Given the description of an element on the screen output the (x, y) to click on. 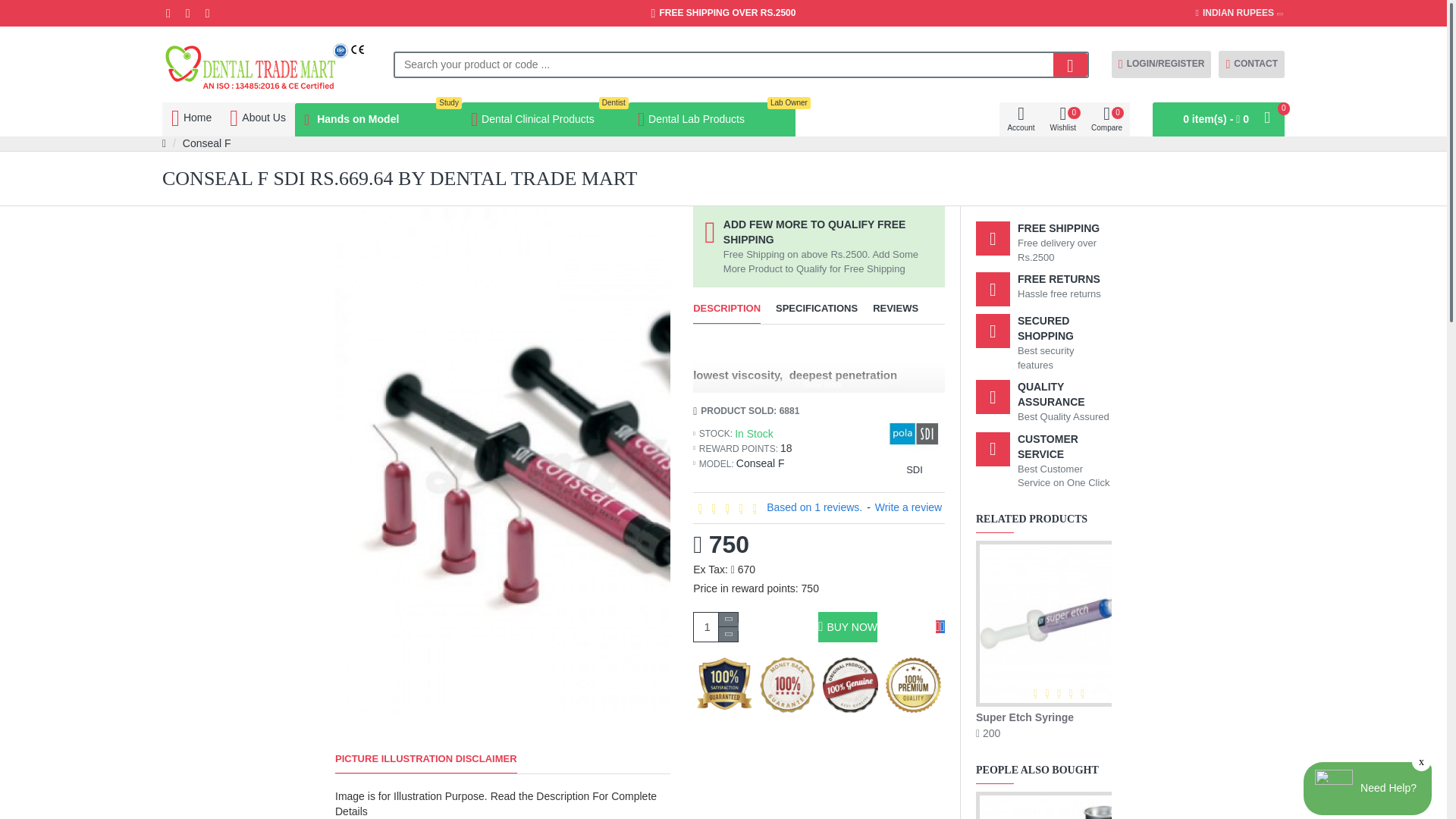
Dental Trade Mart (378, 119)
Conseal F (544, 119)
CONTACT (266, 64)
Conseal F (207, 143)
Account (1062, 119)
Home (1251, 63)
FREE SHIPPING OVER RS.2500 (711, 119)
1 (1020, 119)
